Given the description of an element on the screen output the (x, y) to click on. 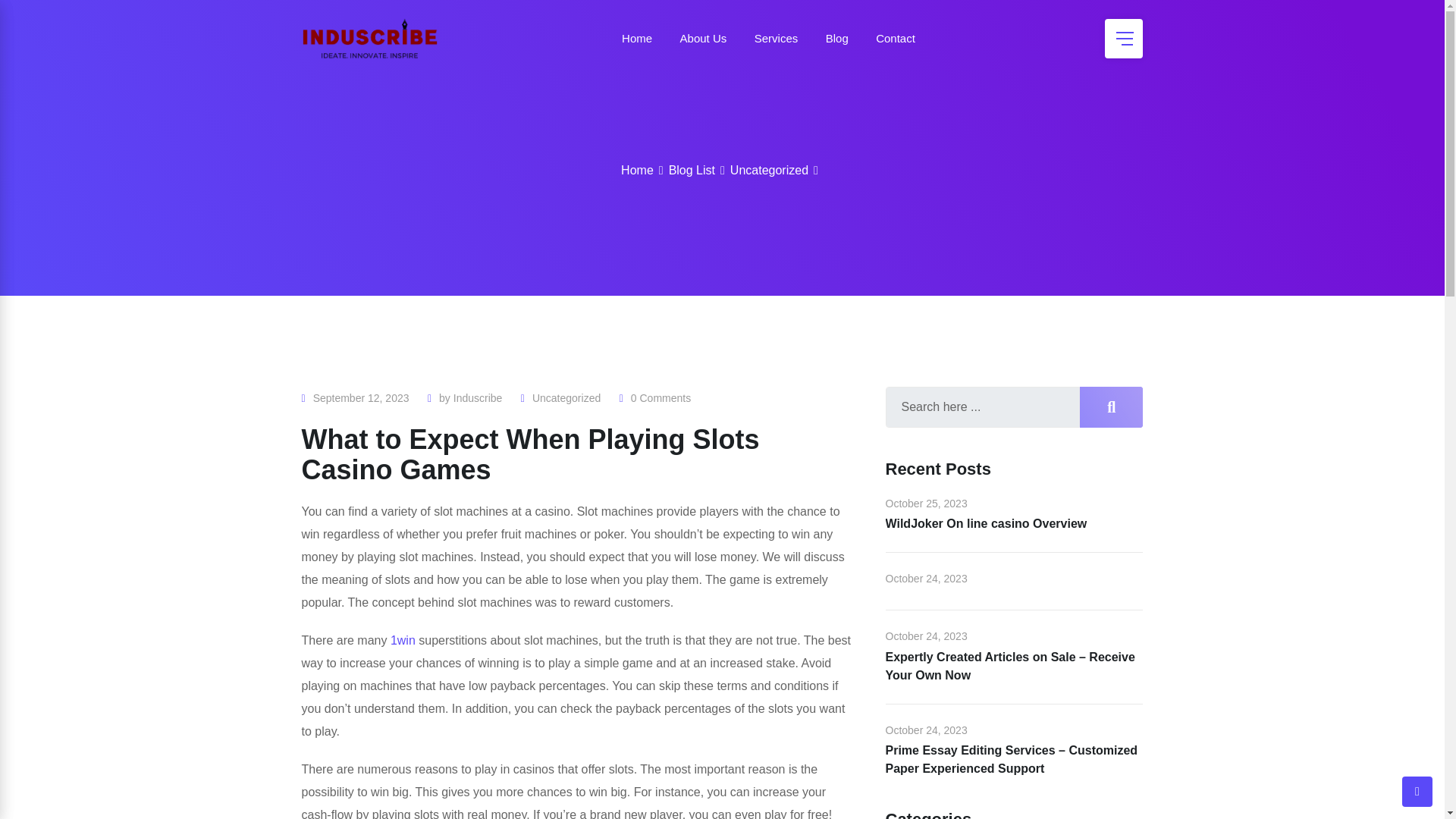
Go to Induscribe. (637, 169)
Go to Blog List. (691, 169)
Go to the Uncategorized category archives. (769, 169)
About Us (703, 38)
Posts by Induscribe (477, 398)
